Given the description of an element on the screen output the (x, y) to click on. 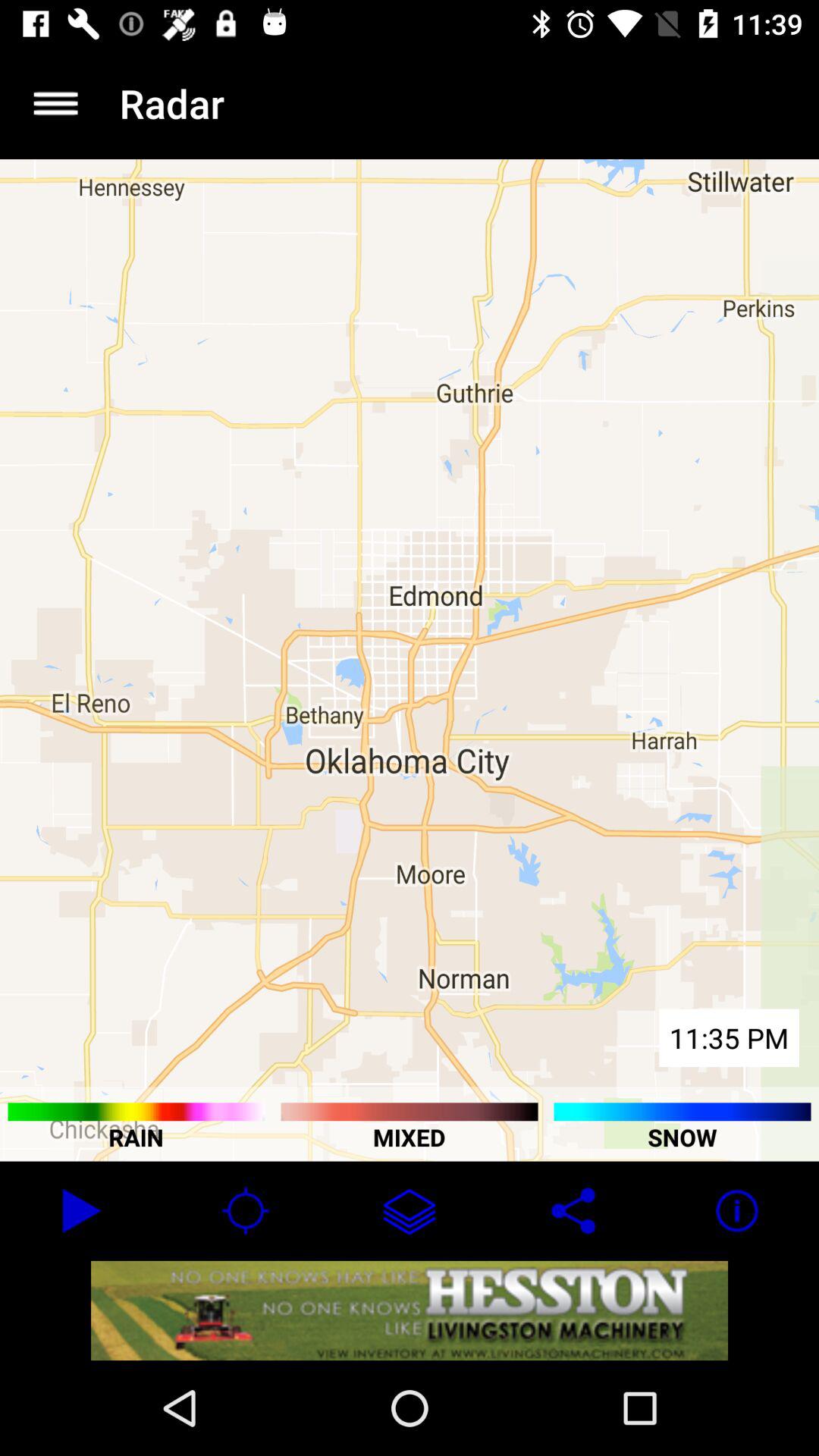
go to menu (55, 103)
